Given the description of an element on the screen output the (x, y) to click on. 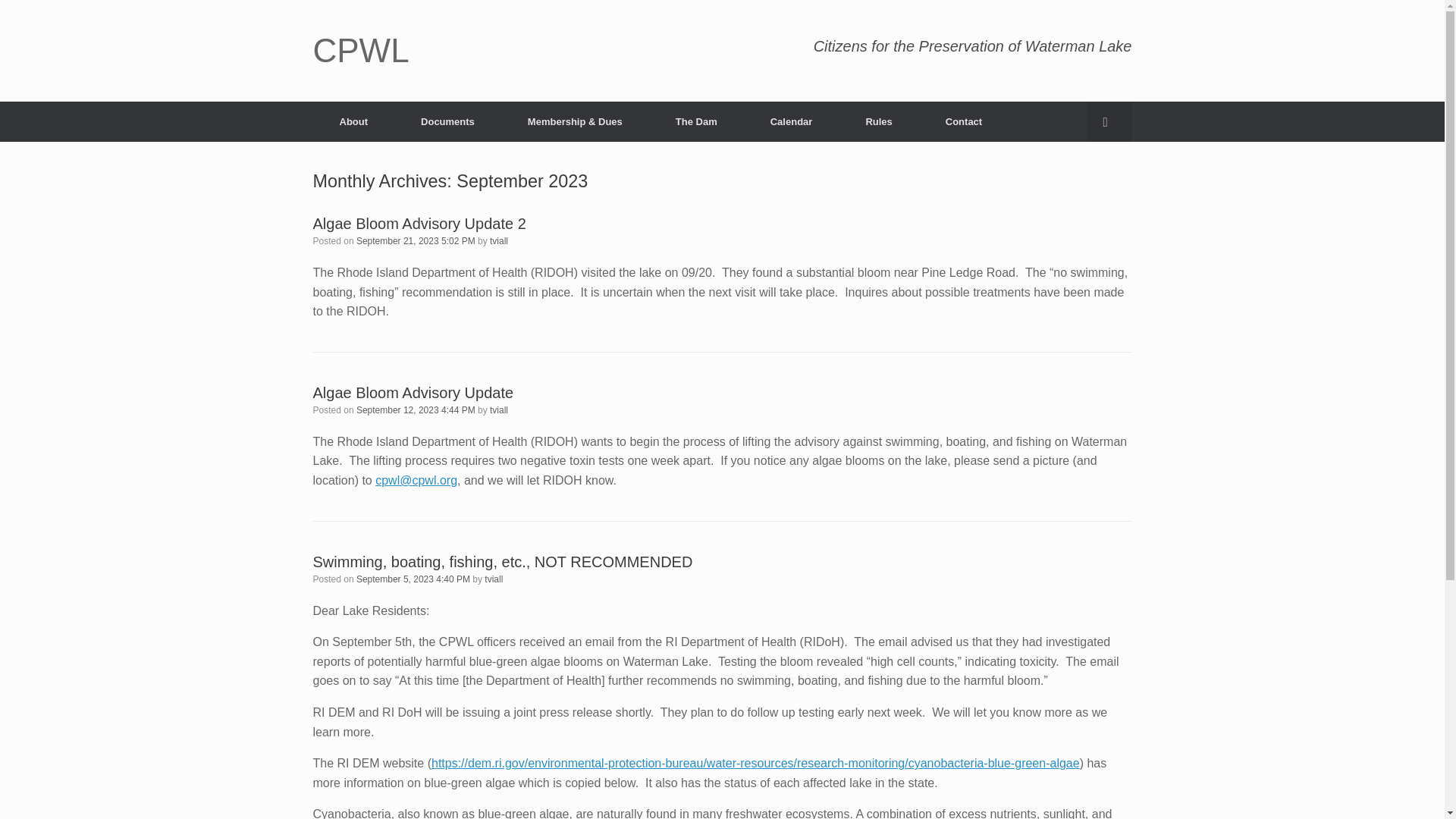
September 5, 2023 4:40 PM (413, 579)
September 21, 2023 5:02 PM (416, 240)
Swimming, boating, fishing, etc., NOT RECOMMENDED (503, 561)
The Dam (696, 121)
5:02 PM (416, 240)
tviall (493, 579)
tviall (498, 240)
4:44 PM (416, 409)
tviall (498, 409)
CPWL (361, 50)
Documents (447, 121)
Permalink to Algae Bloom Advisory Update 2 (419, 223)
View all posts by tviall (493, 579)
4:40 PM (413, 579)
Algae Bloom Advisory Update (413, 392)
